Given the description of an element on the screen output the (x, y) to click on. 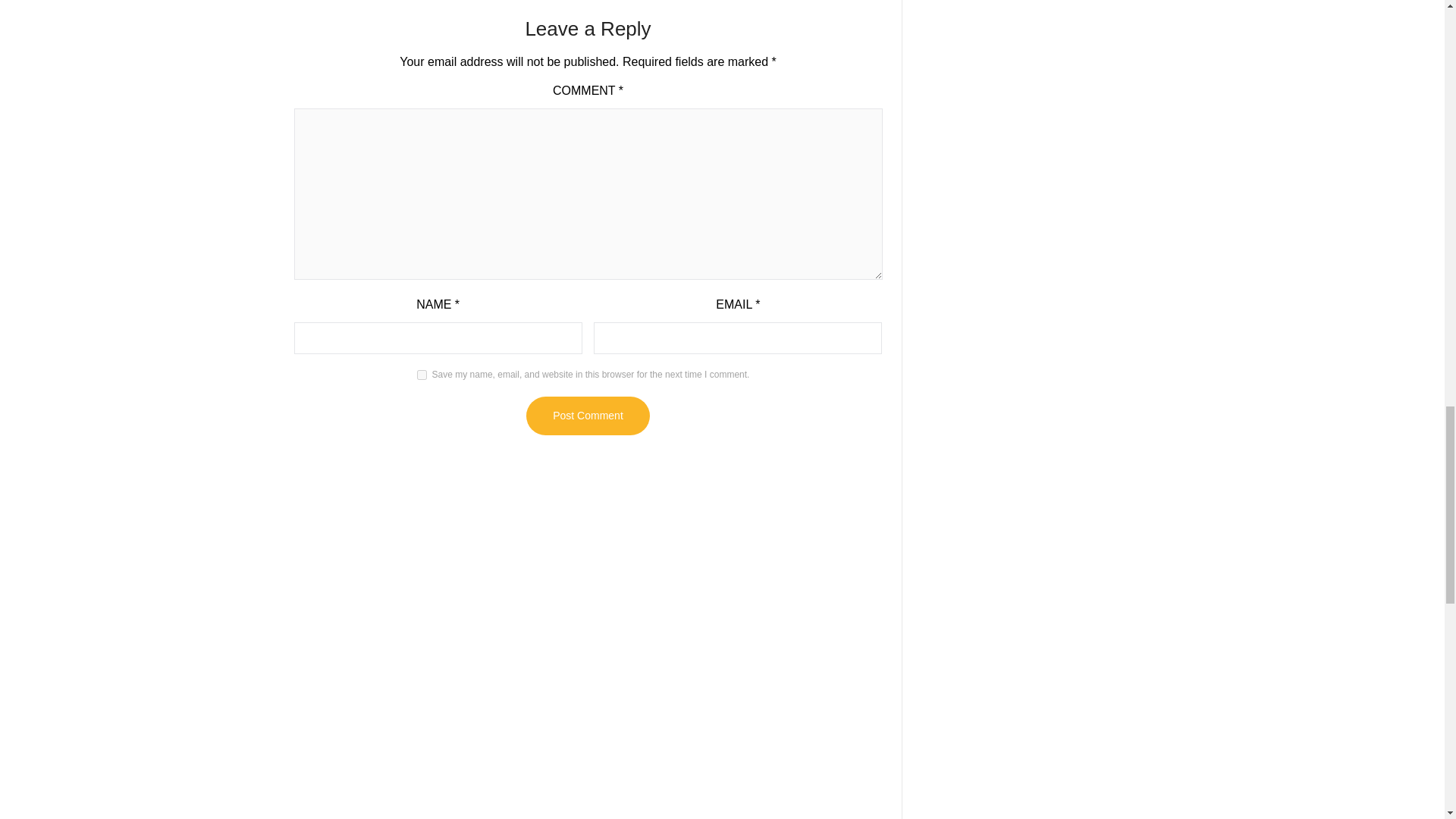
Post Comment (587, 415)
yes (421, 375)
Post Comment (587, 415)
